Given the description of an element on the screen output the (x, y) to click on. 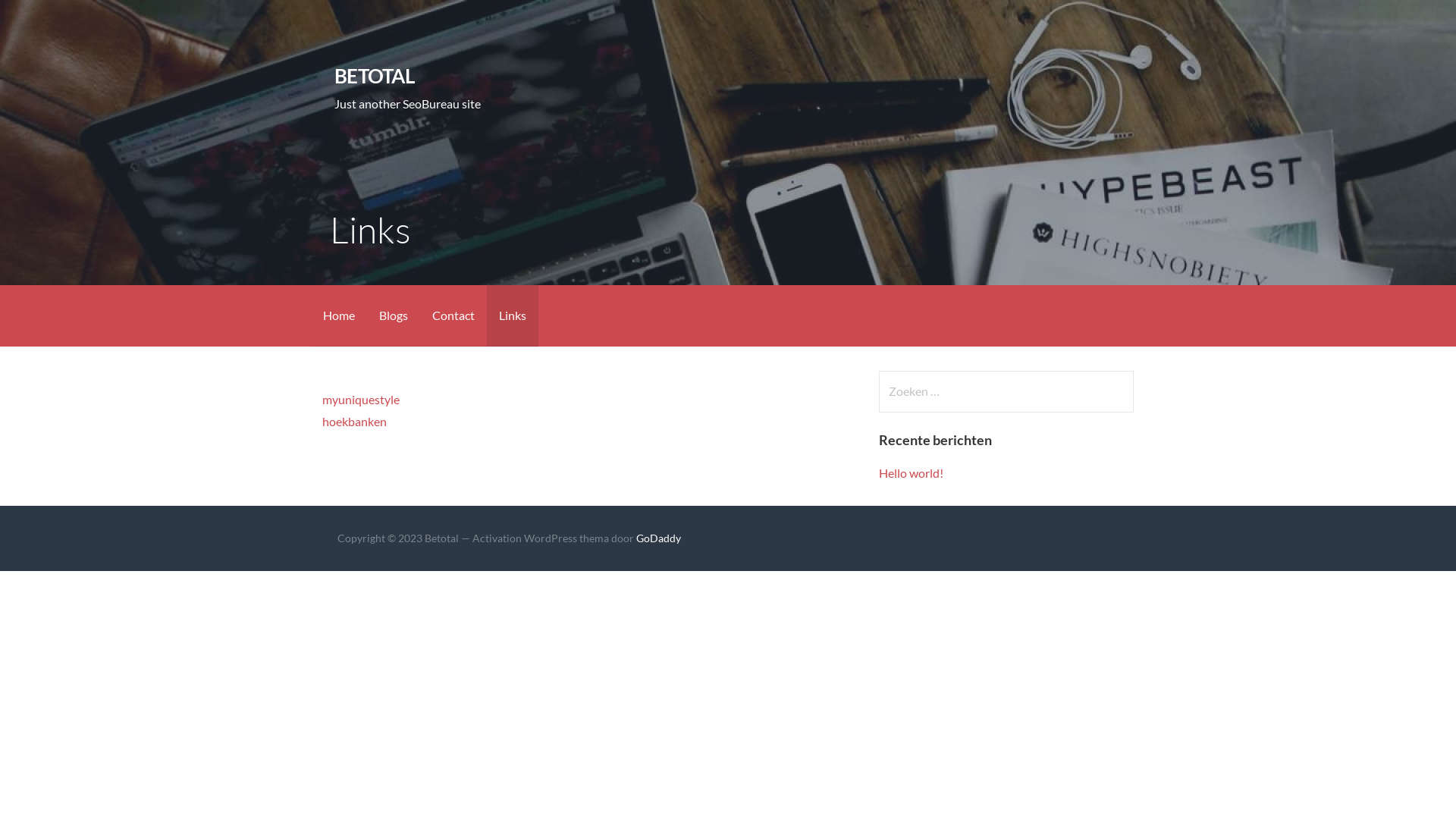
myuniquestyle Element type: text (360, 399)
Zoeken Element type: text (42, 18)
BETOTAL Element type: text (374, 75)
Hello world! Element type: text (910, 472)
GoDaddy Element type: text (658, 537)
Links Element type: text (512, 315)
Blogs Element type: text (393, 315)
Home Element type: text (338, 315)
Contact Element type: text (453, 315)
hoekbanken Element type: text (354, 421)
